Given the description of an element on the screen output the (x, y) to click on. 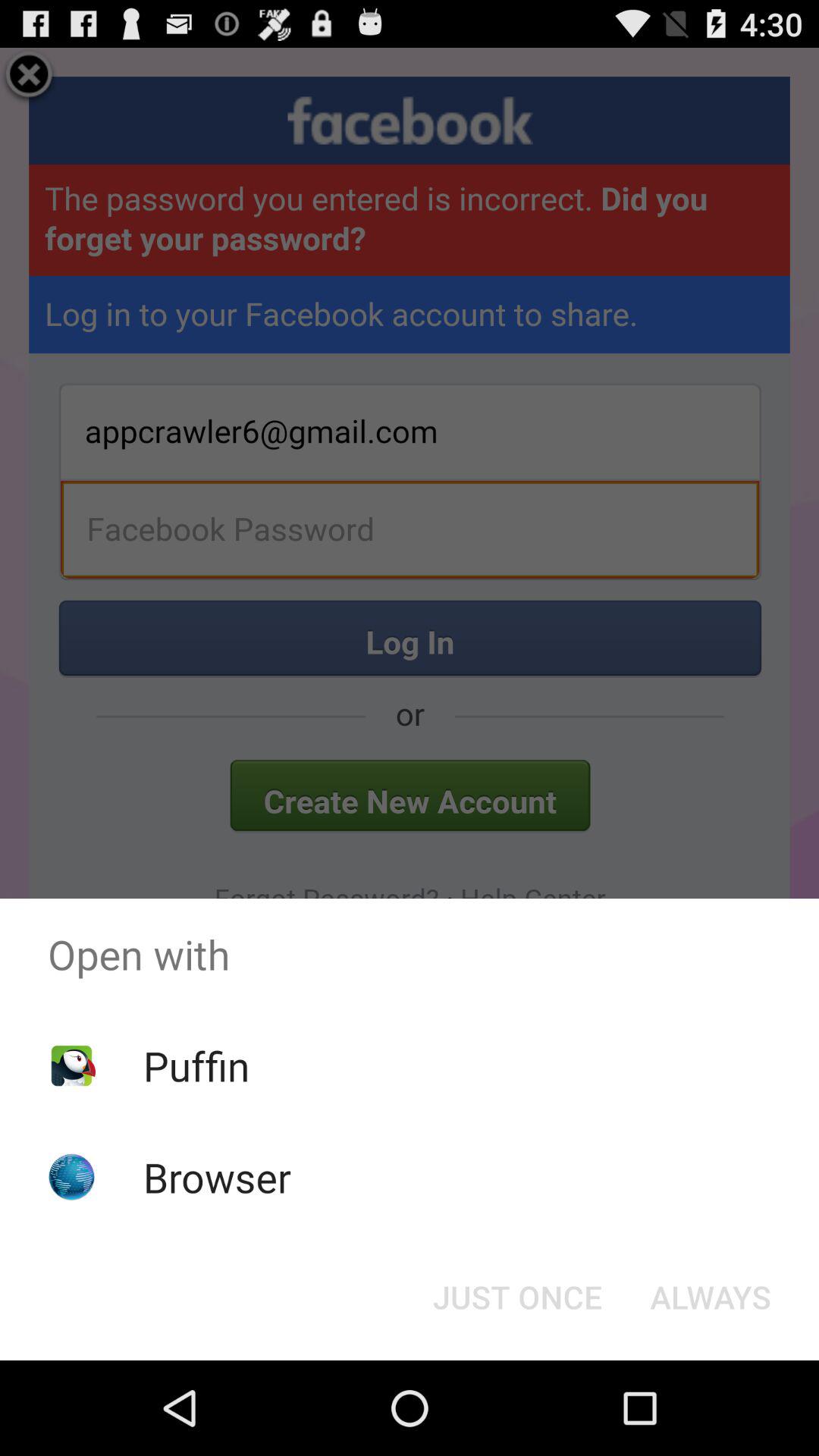
flip until always icon (710, 1296)
